Given the description of an element on the screen output the (x, y) to click on. 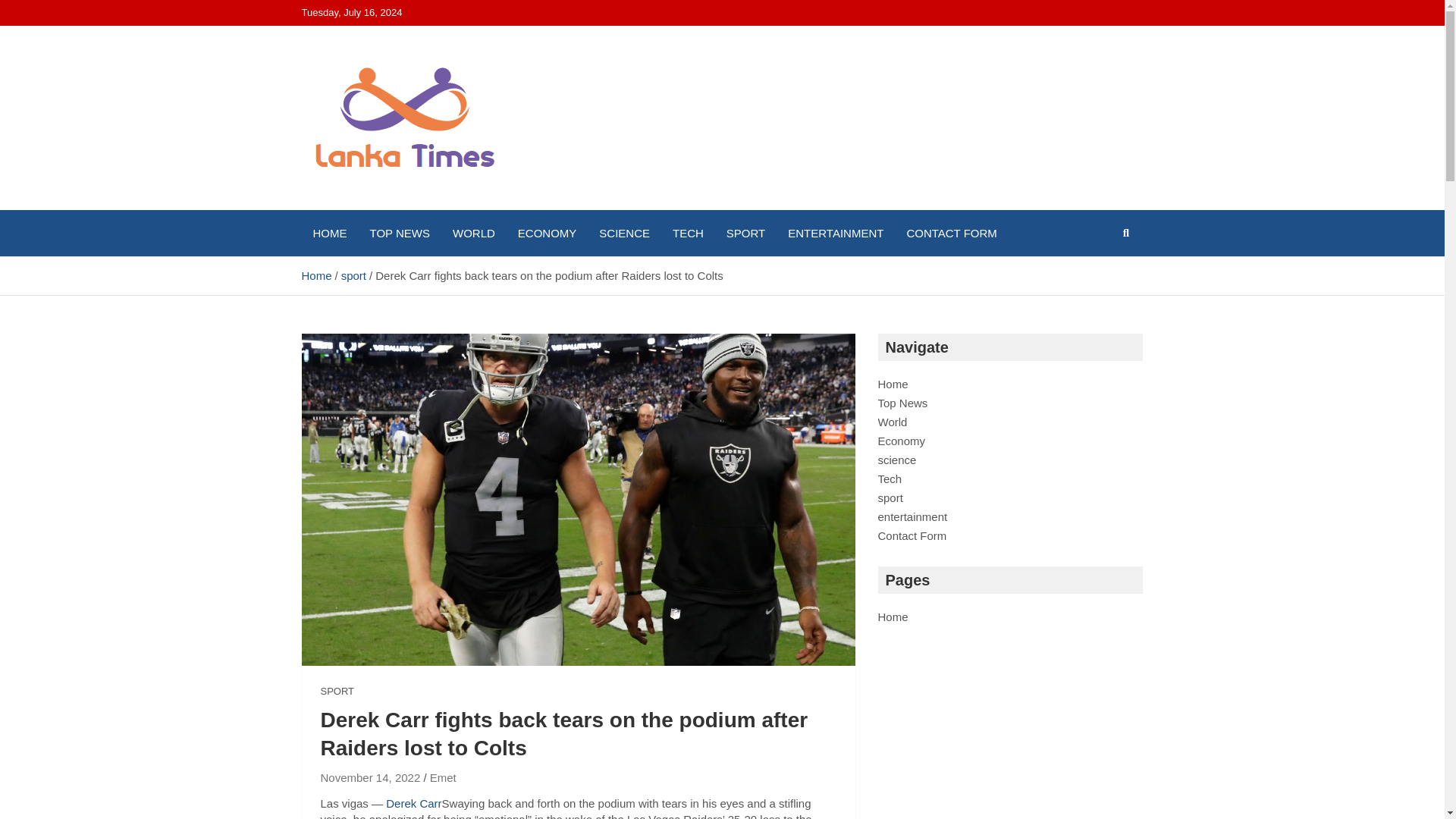
ENTERTAINMENT (835, 232)
sport (353, 275)
Emet (443, 777)
WORLD (473, 232)
Top News (902, 402)
sport (889, 497)
ECONOMY (547, 232)
Economy (901, 440)
Home (316, 275)
Lanka Times (392, 206)
November 14, 2022 (370, 777)
Home (892, 616)
HOME (329, 232)
SCIENCE (624, 232)
